Given the description of an element on the screen output the (x, y) to click on. 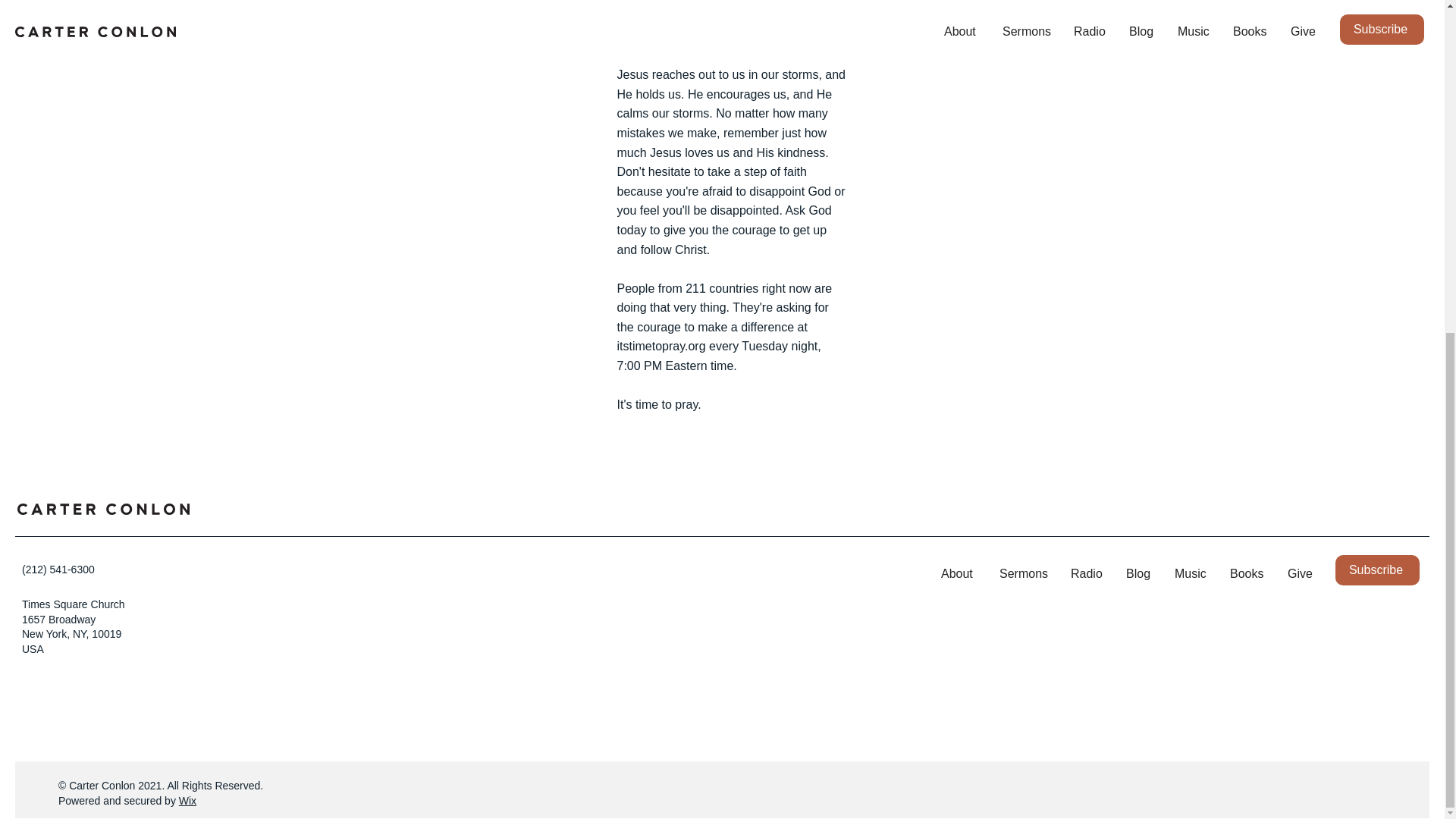
Wix (187, 800)
About (959, 573)
Give (1299, 573)
Radio (1087, 573)
Subscribe (1377, 570)
Blog (1139, 573)
Sermons (1023, 573)
Music (1190, 573)
Books (1247, 573)
